Given the description of an element on the screen output the (x, y) to click on. 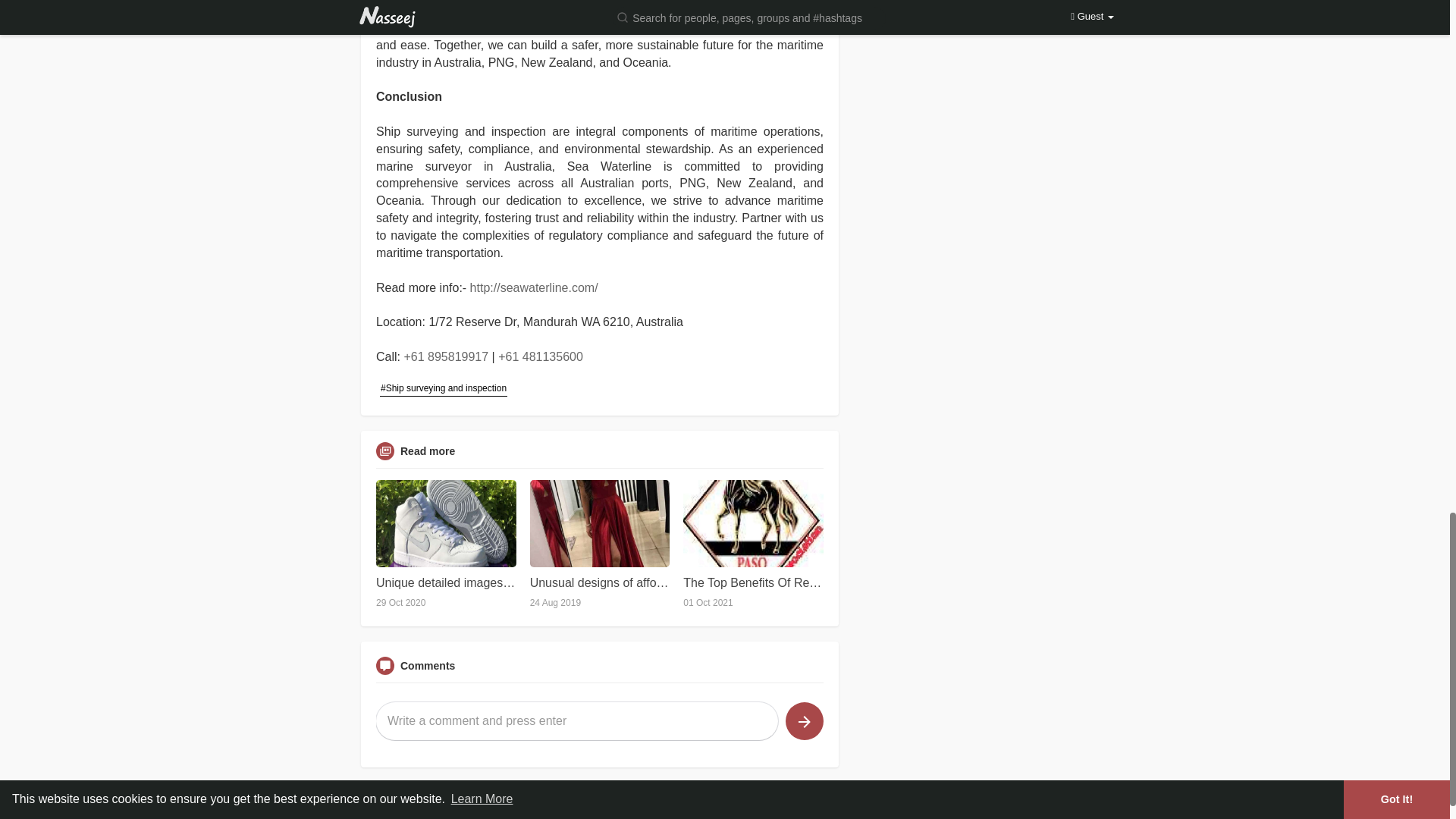
Unique detailed images of the Nike SB Dunk Low Habibi (445, 582)
The Top Benefits Of Recreational Riding (753, 582)
Unusual designs of affordable prom dresses   (599, 582)
